Given the description of an element on the screen output the (x, y) to click on. 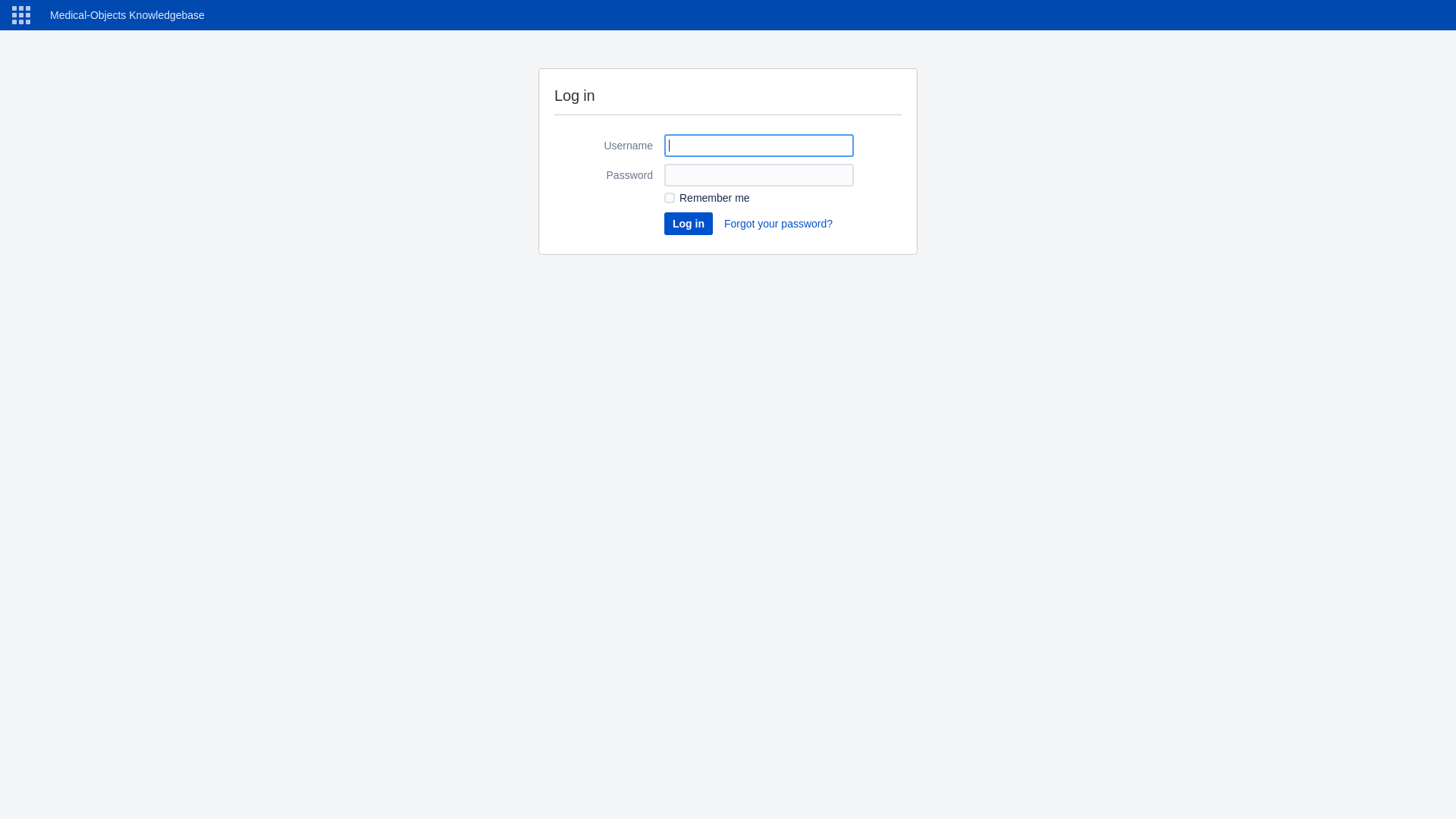
Medical-Objects Knowledgebase Element type: text (123, 15)
Forgot your password? Element type: text (778, 223)
Linked Applications Element type: text (20, 15)
Log in Element type: text (688, 223)
